Given the description of an element on the screen output the (x, y) to click on. 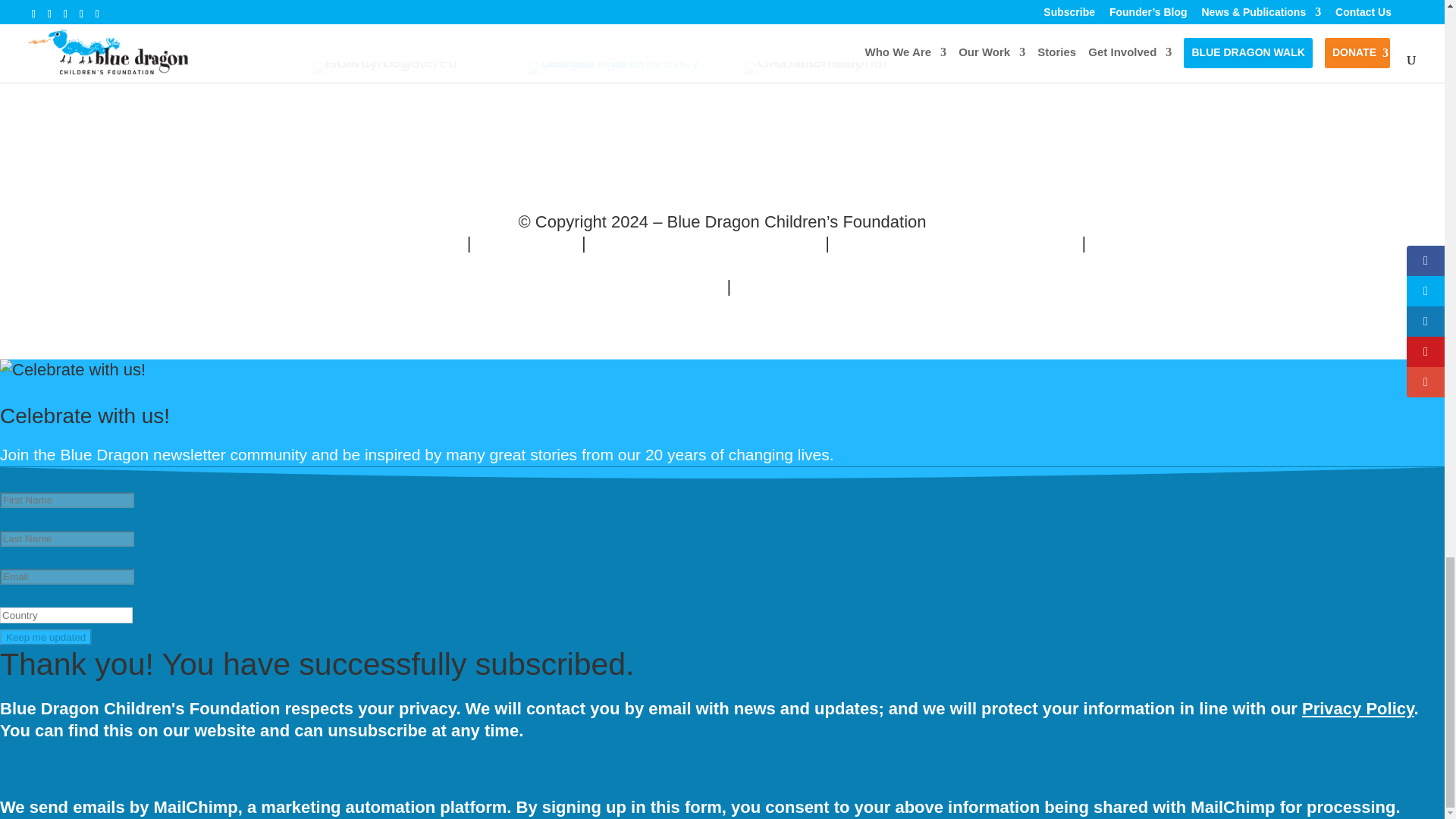
Follow on LinkedIn (470, 4)
Follow on Facebook (362, 4)
Follow on Twitter (398, 4)
ACNC Registered Charity Logo (398, 68)
Follow on Instagram (505, 4)
Follow on Youtube (434, 4)
profile-platinum2024-seal-resized-1 (613, 68)
